Given the description of an element on the screen output the (x, y) to click on. 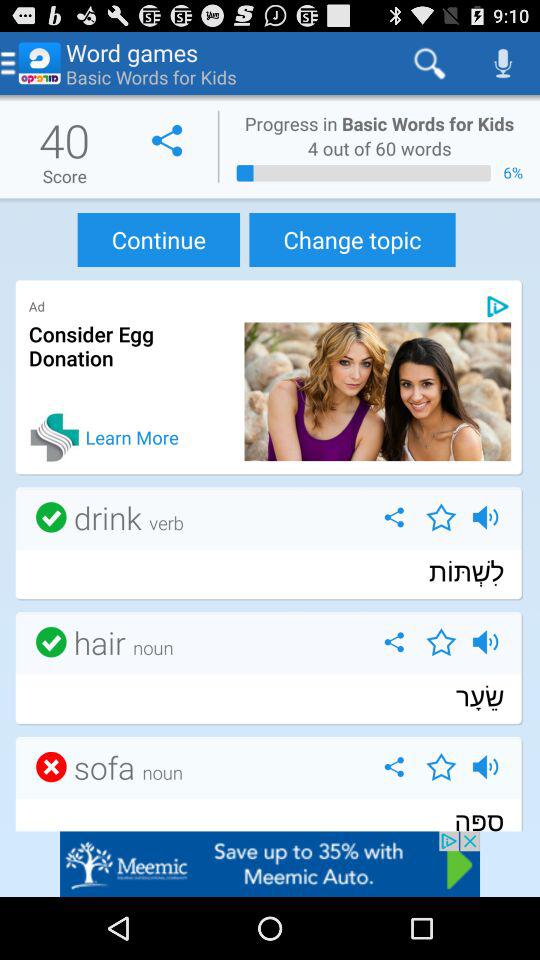
get information on advertisements (497, 306)
